Given the description of an element on the screen output the (x, y) to click on. 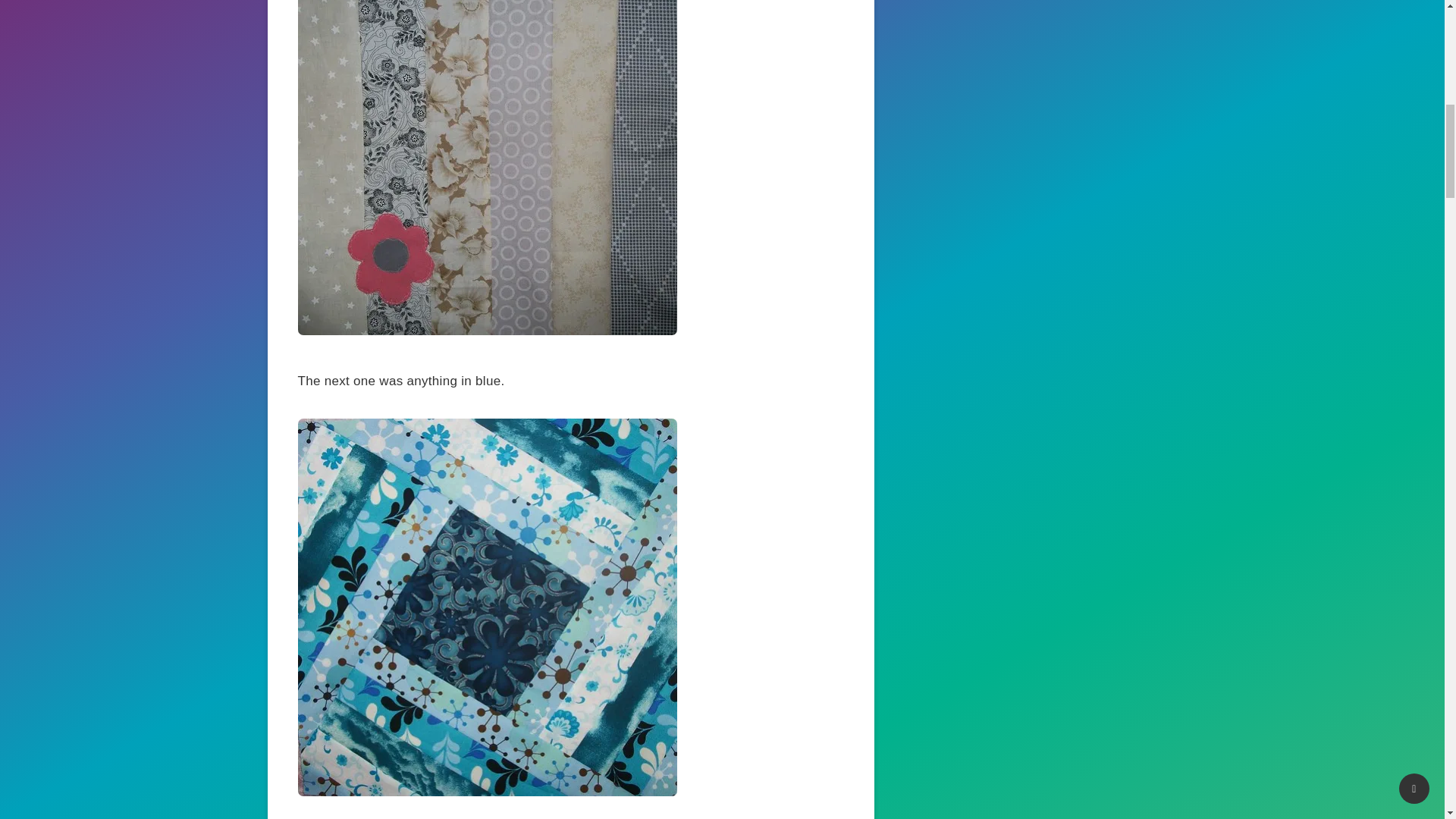
For Ursi by spirit97, on Flickr (487, 330)
JoJo's block by spirit97, on Flickr (487, 791)
